Given the description of an element on the screen output the (x, y) to click on. 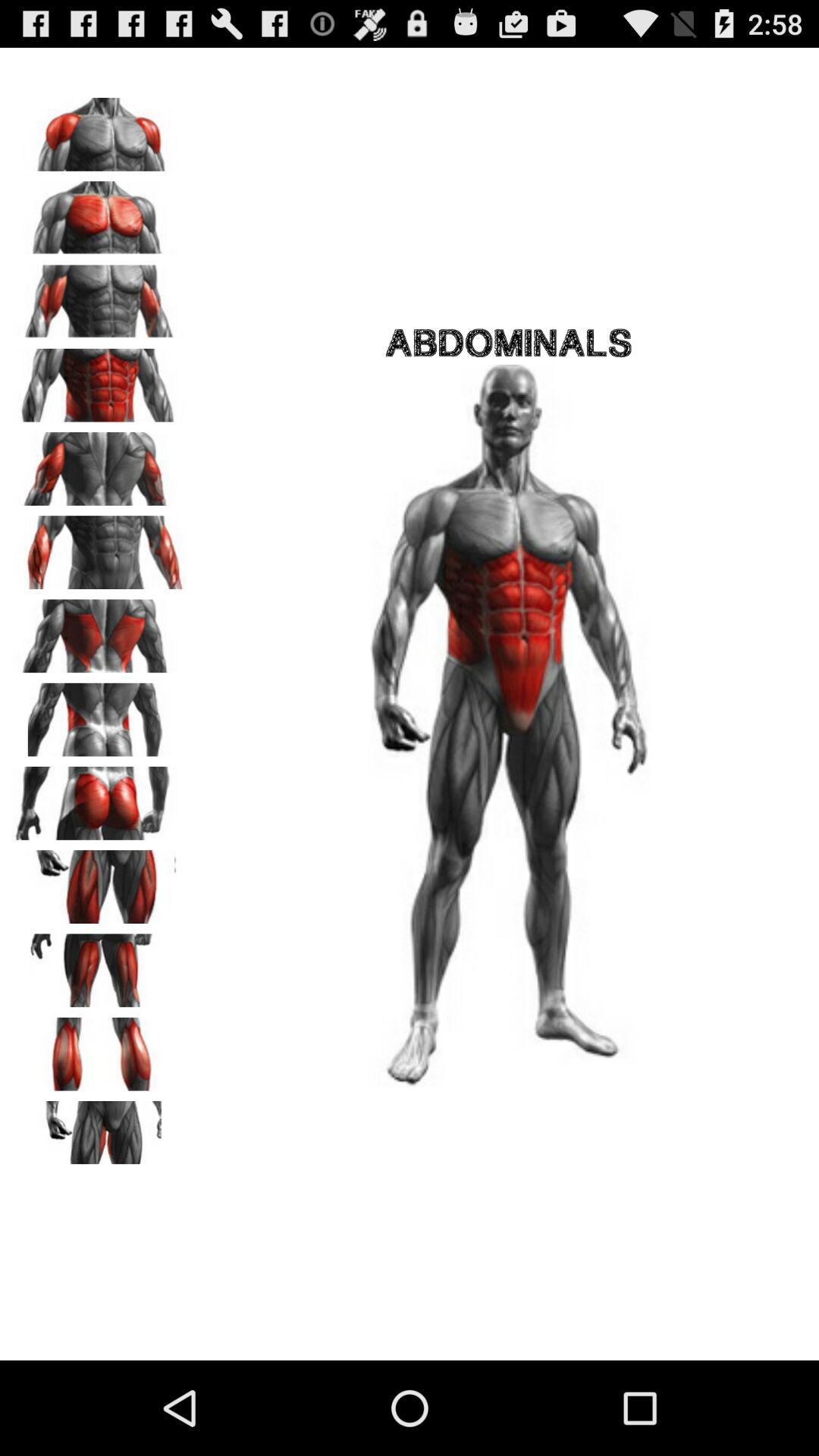
swithc muscle group (99, 798)
